Given the description of an element on the screen output the (x, y) to click on. 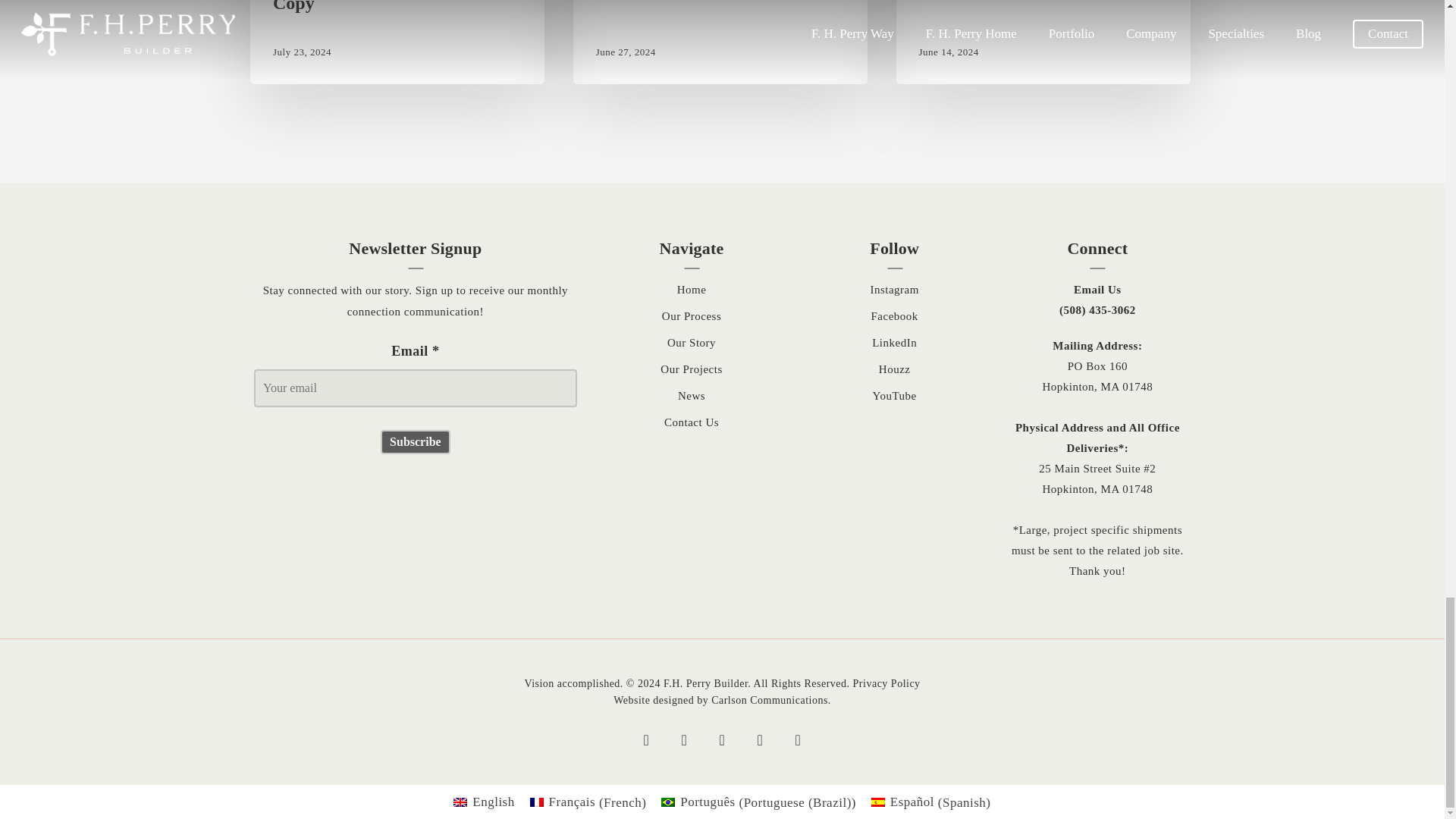
Subscribe (414, 441)
